Given the description of an element on the screen output the (x, y) to click on. 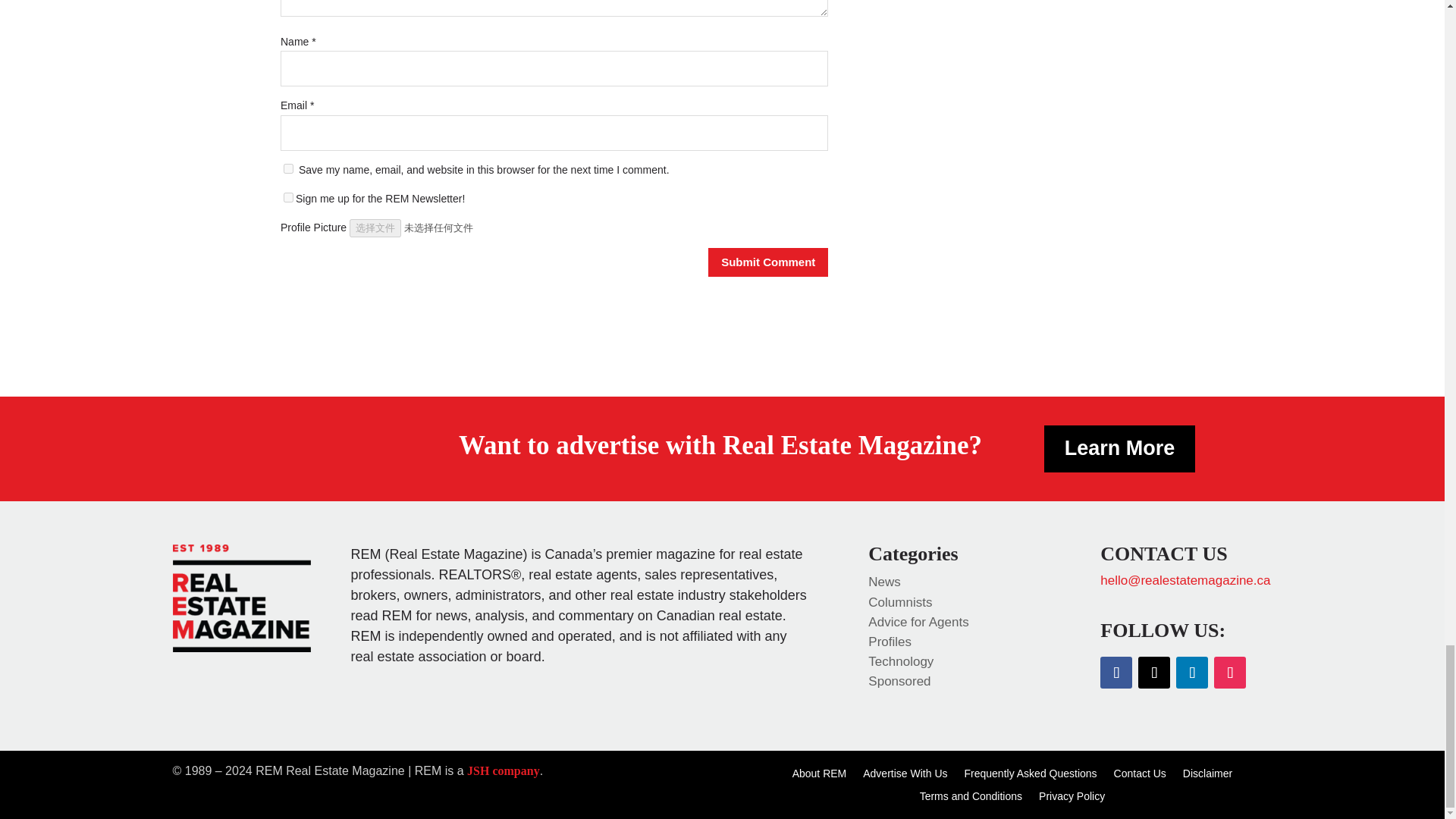
yes (288, 168)
Submit Comment (767, 262)
1 (288, 197)
